Given the description of an element on the screen output the (x, y) to click on. 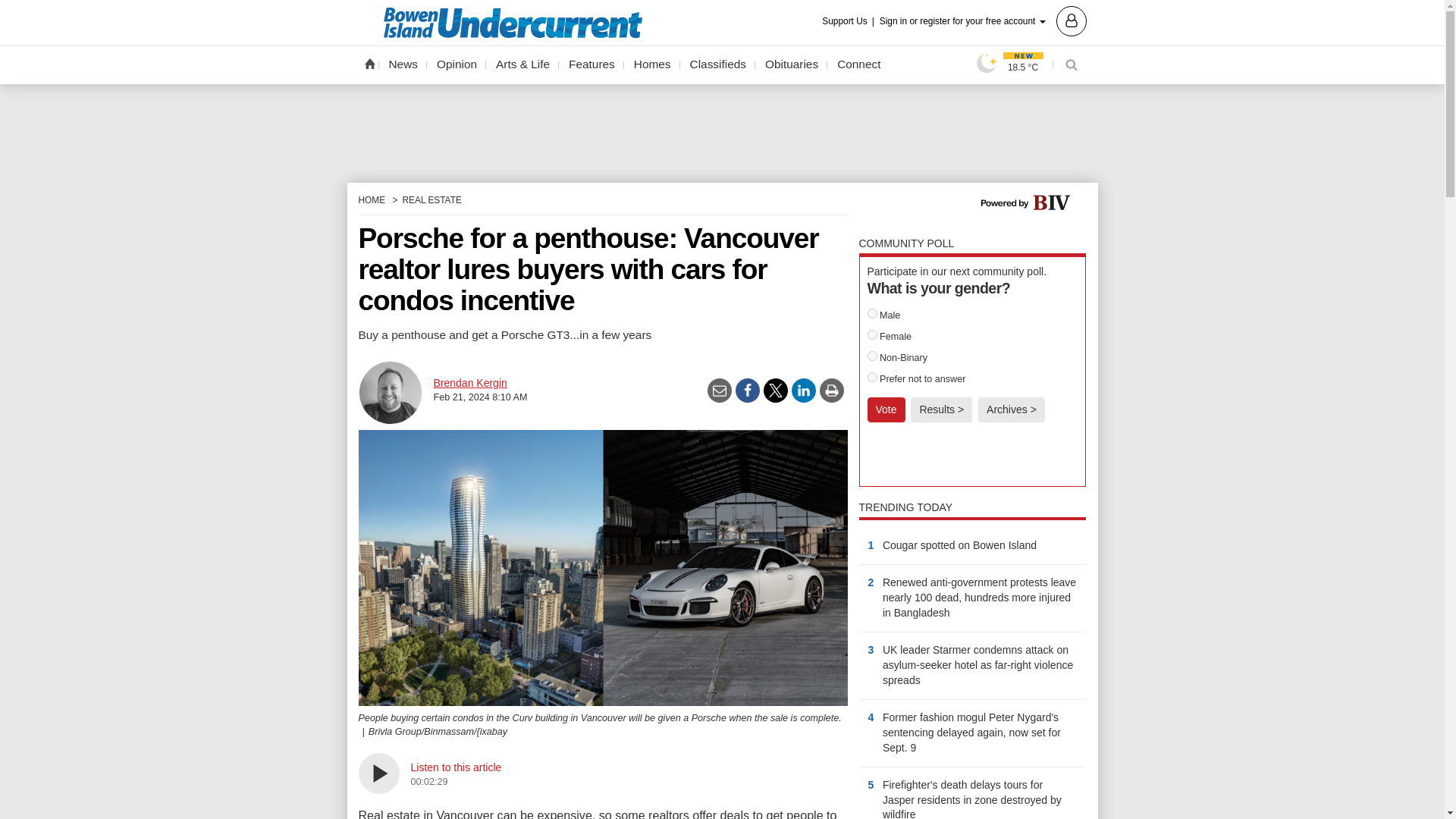
Opinion (456, 64)
116706 (872, 313)
Support Us (849, 21)
116709 (872, 377)
116707 (872, 334)
116708 (872, 356)
Sign in or register for your free account (982, 20)
News (403, 64)
Home (368, 63)
